Given the description of an element on the screen output the (x, y) to click on. 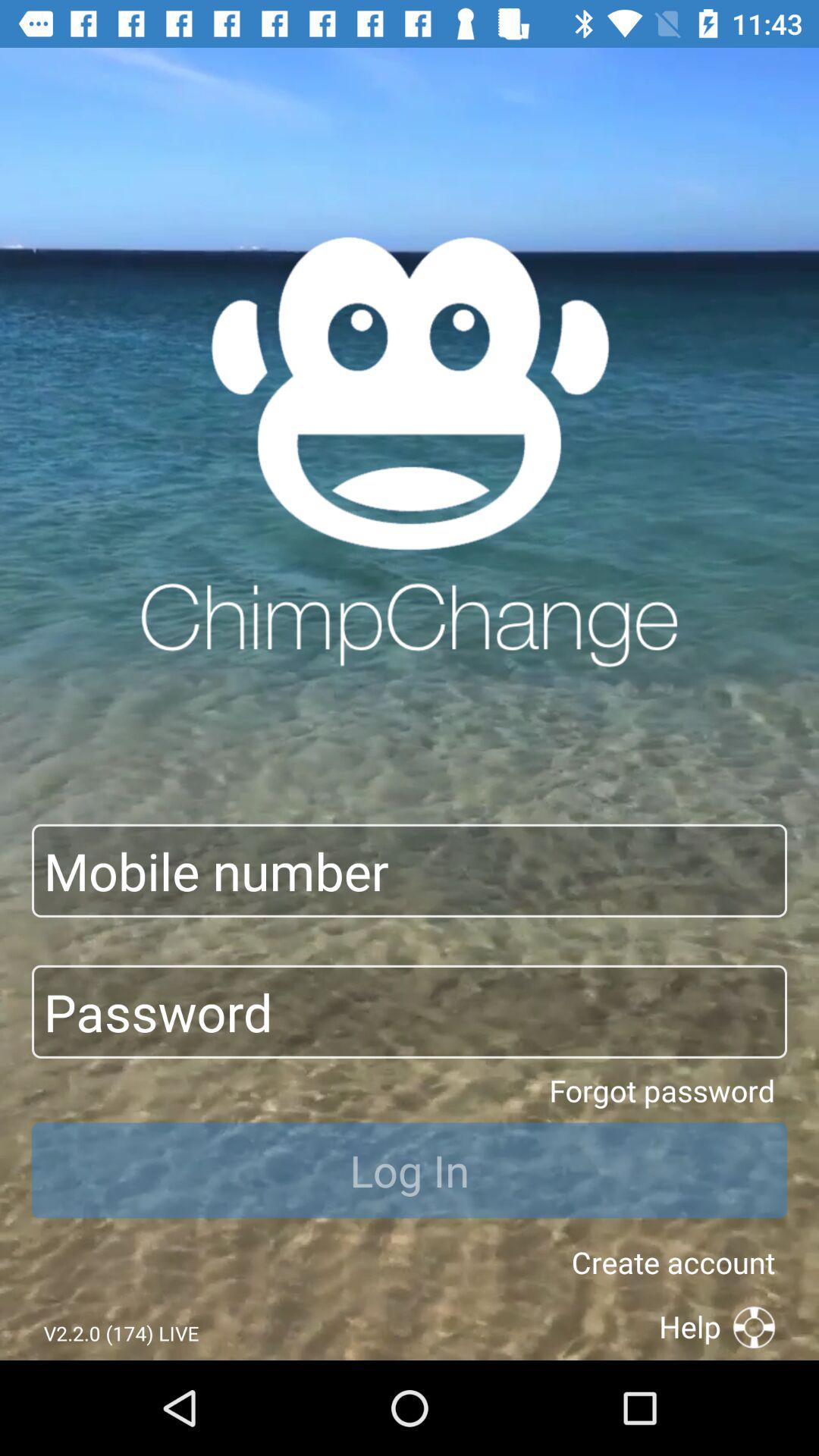
records mobile number (409, 870)
